Given the description of an element on the screen output the (x, y) to click on. 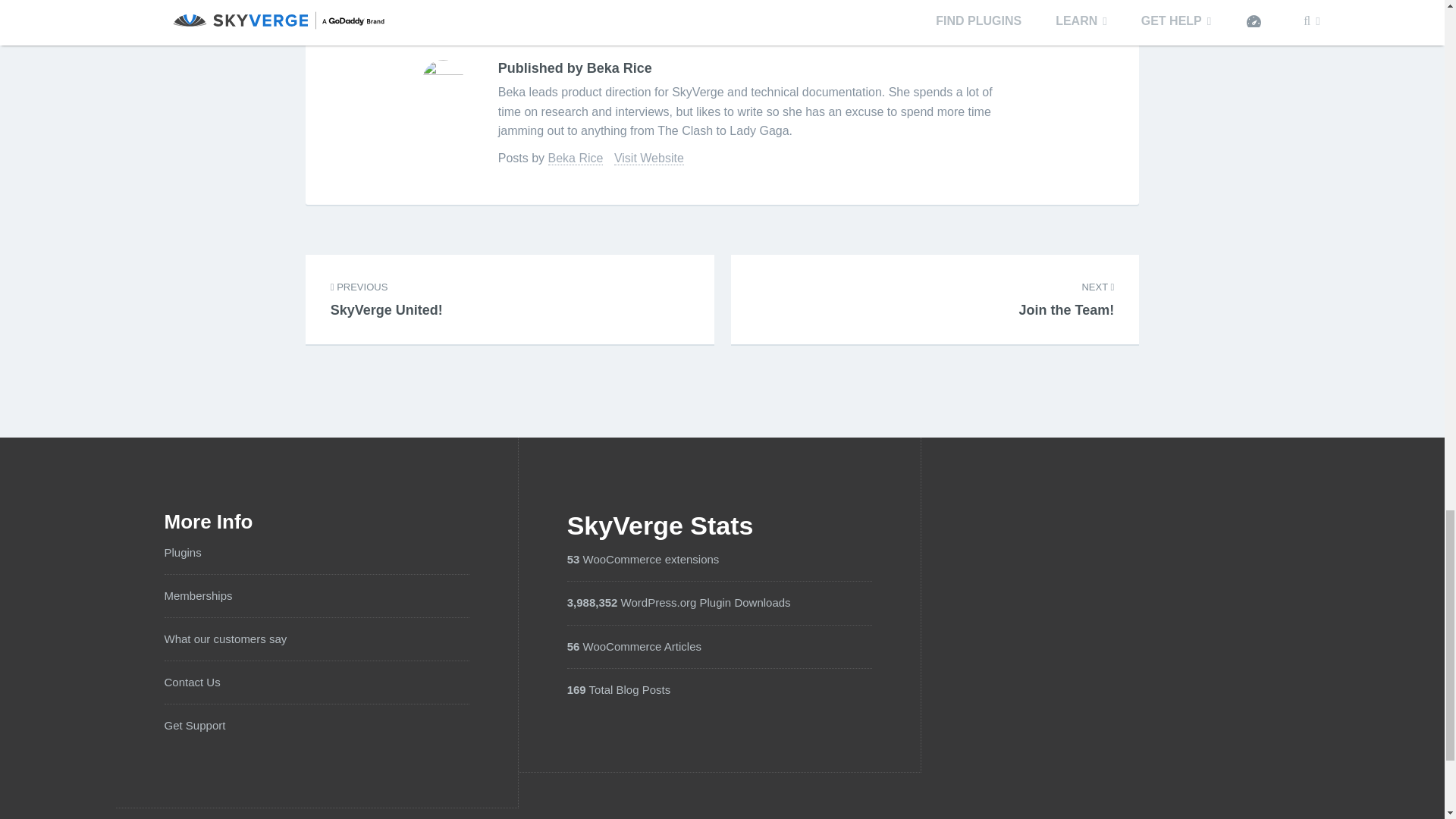
56 (386, 290)
What our customers say (573, 645)
169 (224, 638)
Get Support (1067, 290)
Contact Us (576, 689)
Visit Website (194, 725)
Beka Rice (191, 681)
53 (649, 158)
